Given the description of an element on the screen output the (x, y) to click on. 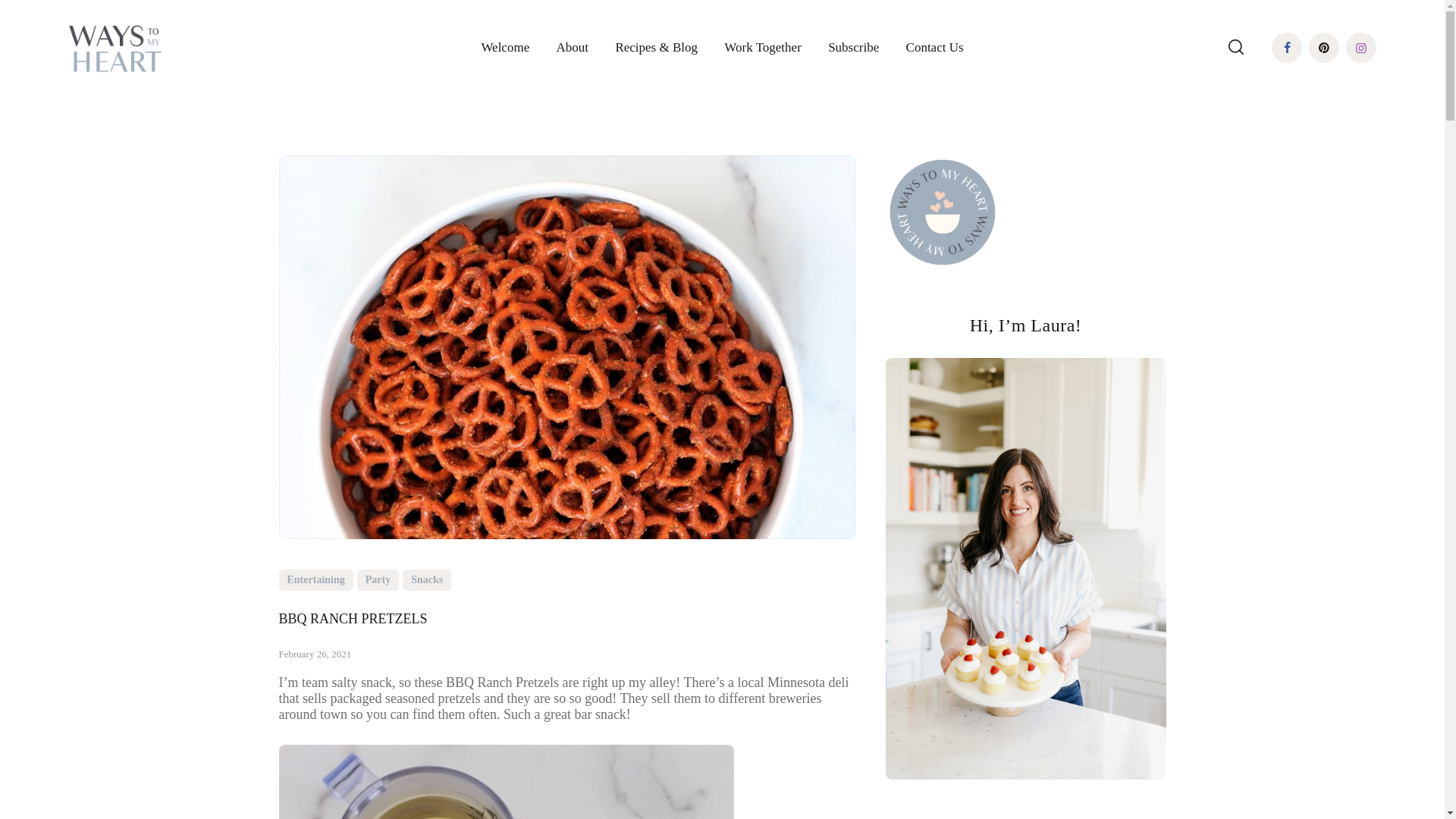
Party (377, 579)
Work Together (763, 47)
About (572, 47)
Subscribe (852, 47)
Entertaining (316, 579)
Contact Us (934, 47)
Snacks (427, 579)
Welcome (505, 47)
